Given the description of an element on the screen output the (x, y) to click on. 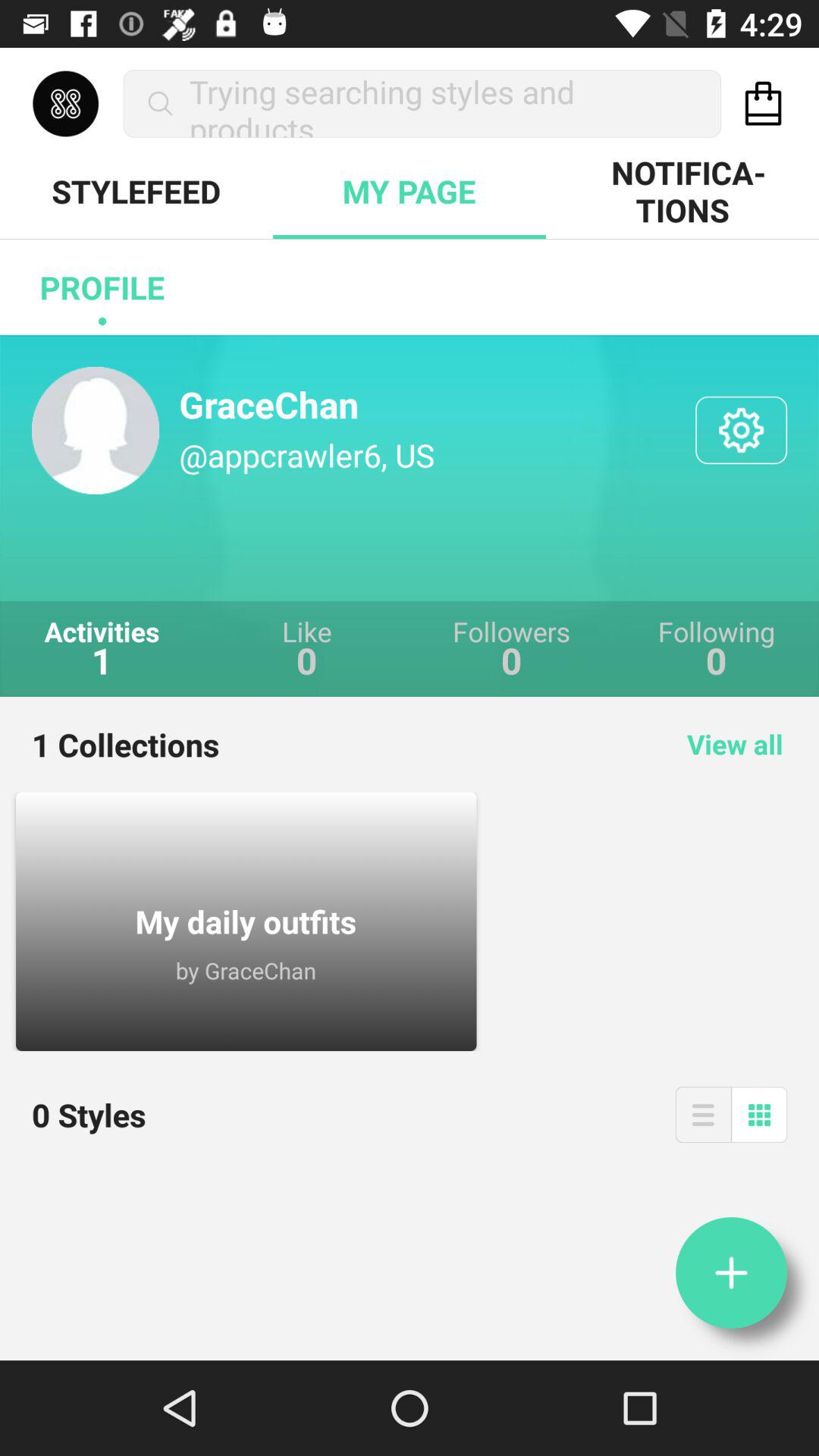
launch icon next to the 0 styles item (702, 1114)
